Given the description of an element on the screen output the (x, y) to click on. 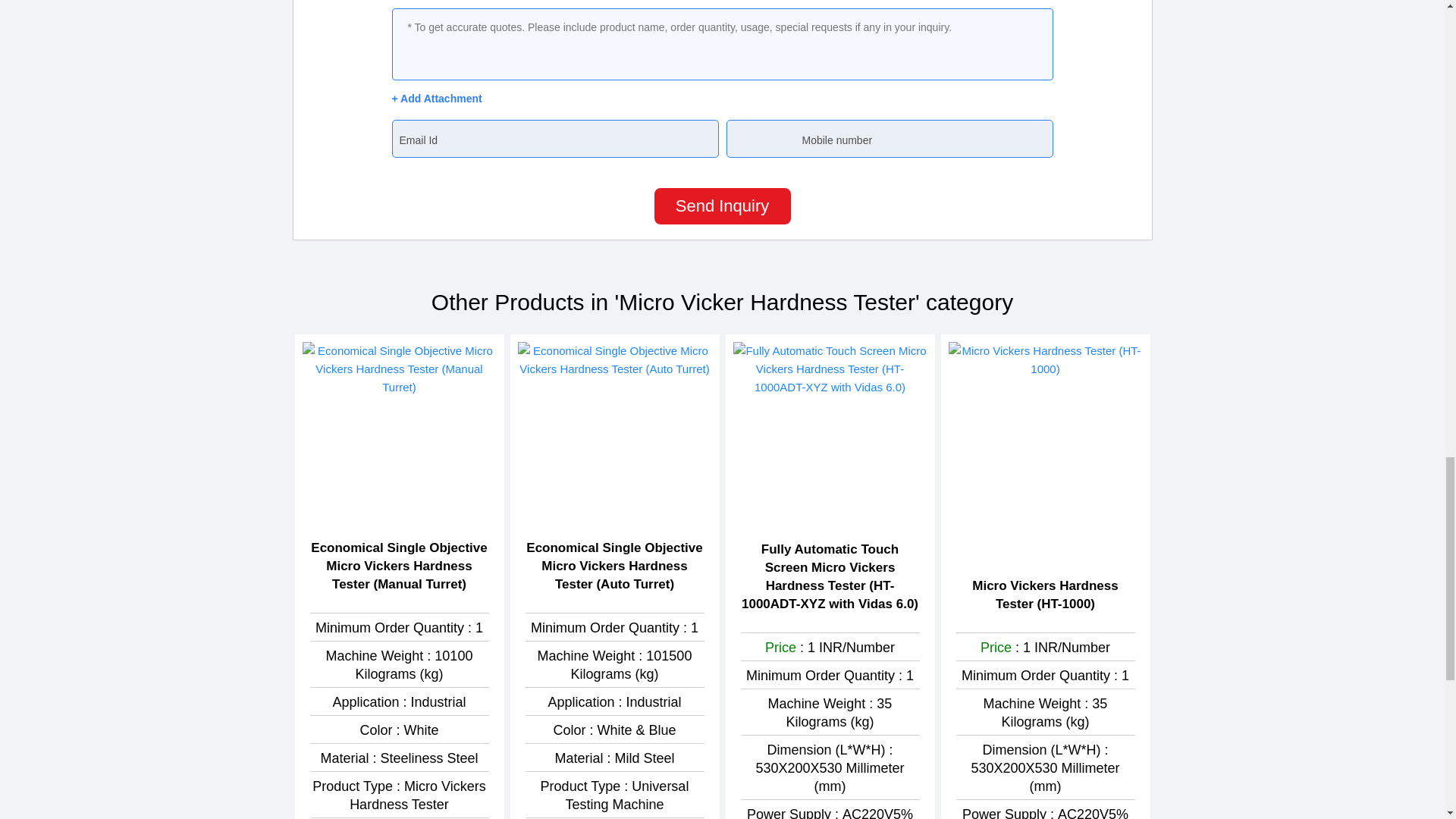
Send Inquiry (721, 206)
